Given the description of an element on the screen output the (x, y) to click on. 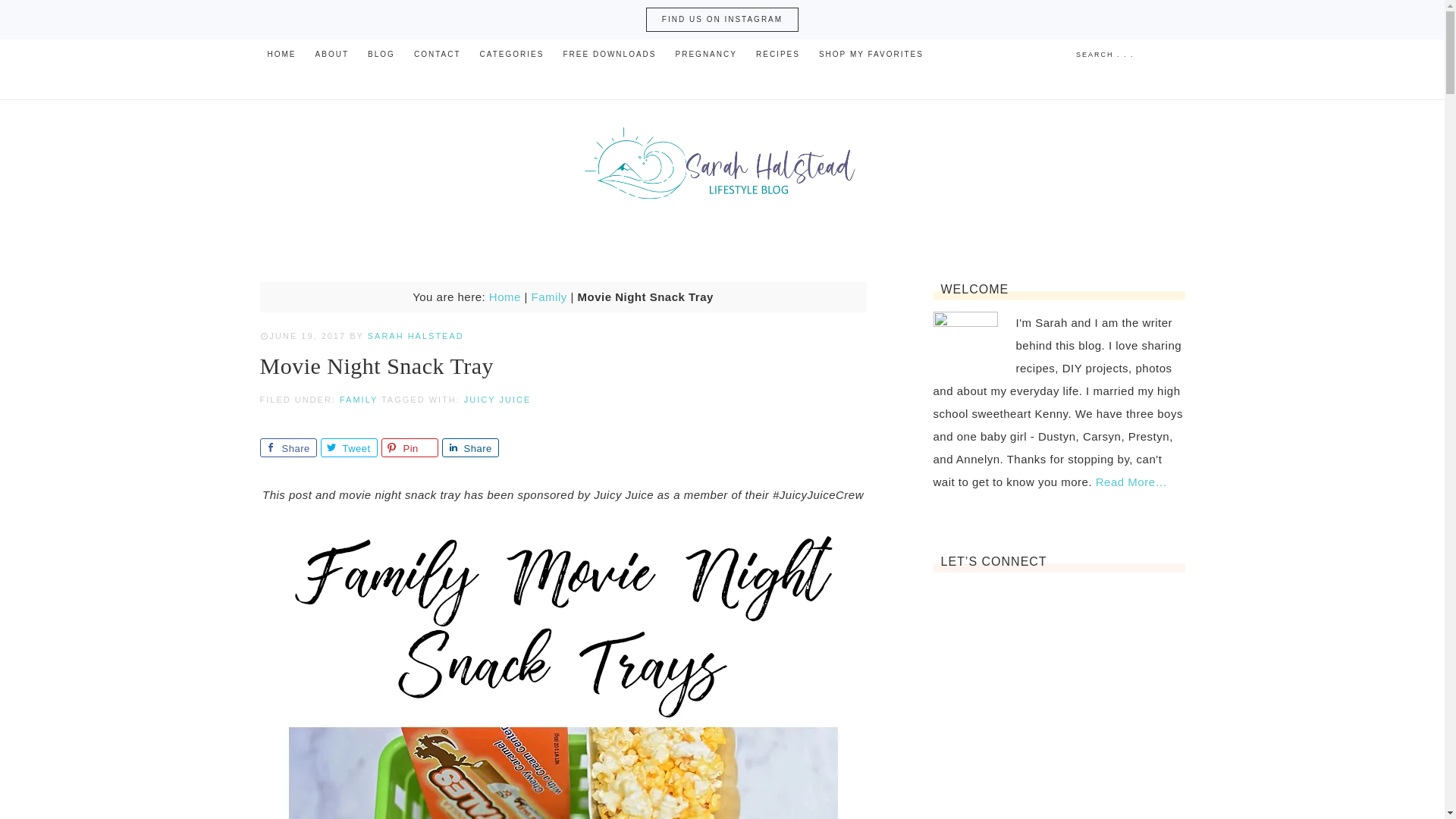
HOME (280, 54)
BLOG (381, 54)
CATEGORIES (511, 54)
FIND US ON INSTAGRAM (721, 19)
CONTACT (437, 54)
ABOUT (331, 54)
